Given the description of an element on the screen output the (x, y) to click on. 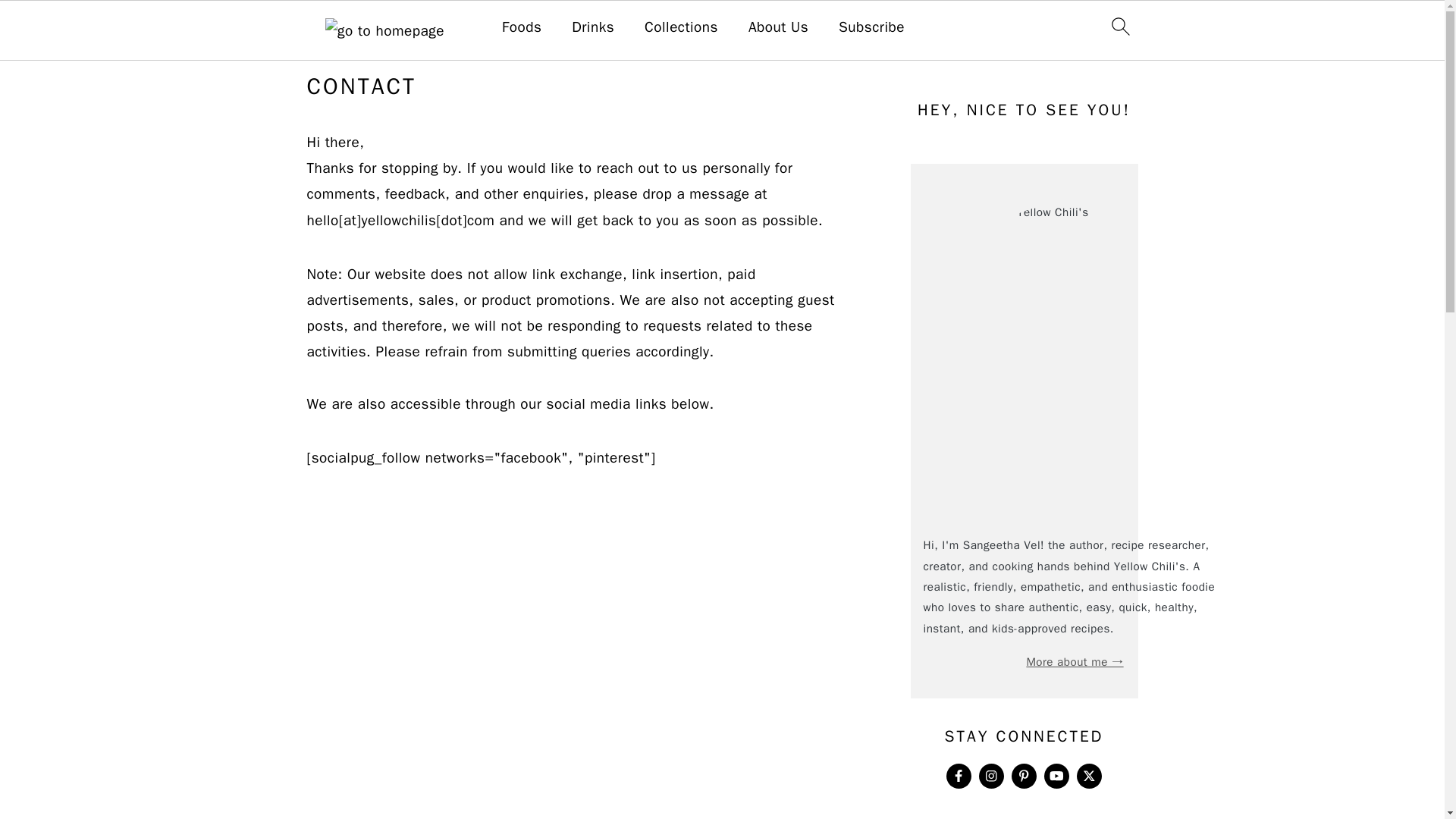
Foods (521, 27)
search icon (1119, 26)
Drinks (593, 27)
About Us (778, 27)
Collections (681, 27)
Subscribe (871, 27)
